Given the description of an element on the screen output the (x, y) to click on. 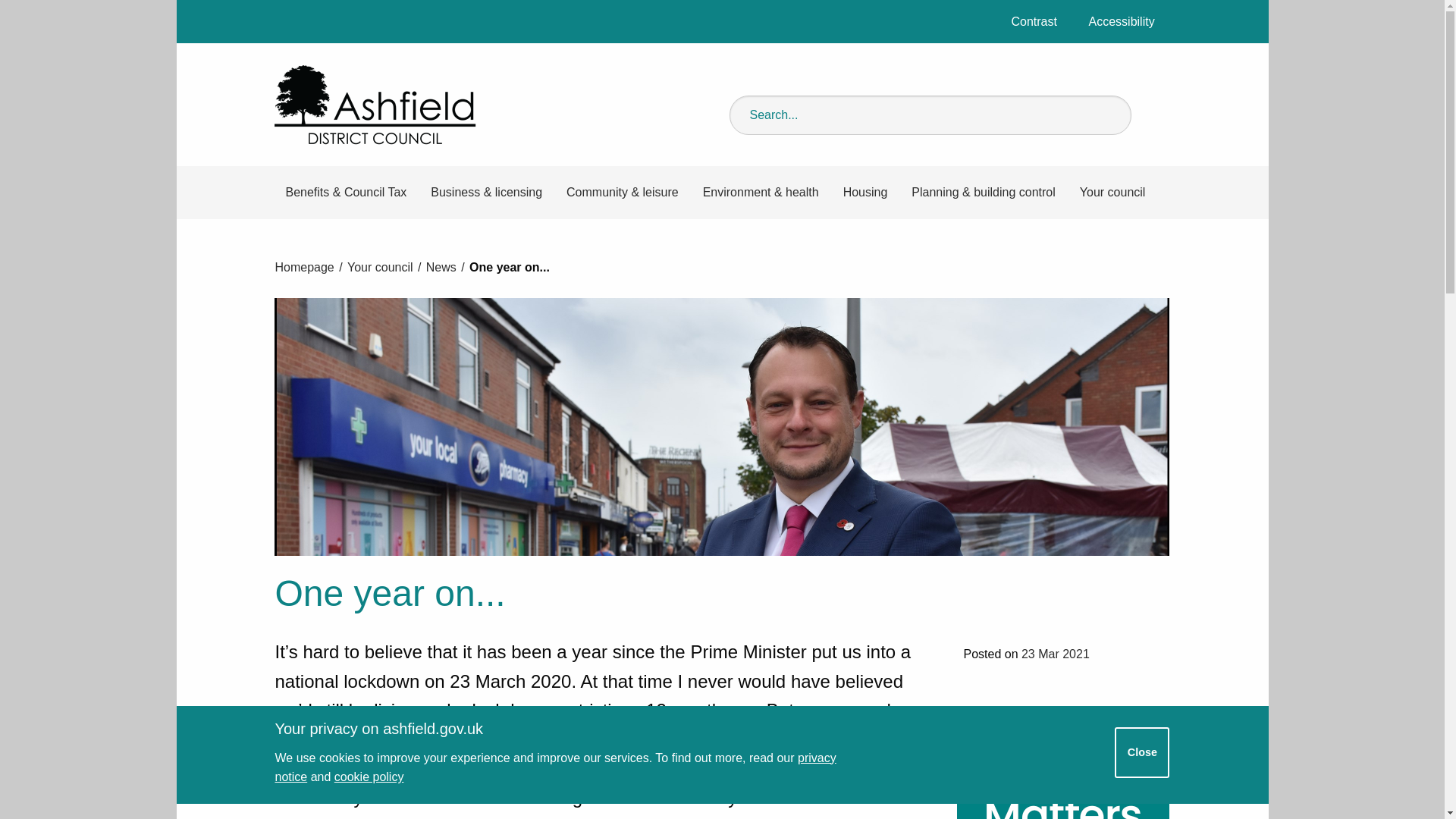
Contrast (1034, 21)
Accessibility (1121, 21)
